Given the description of an element on the screen output the (x, y) to click on. 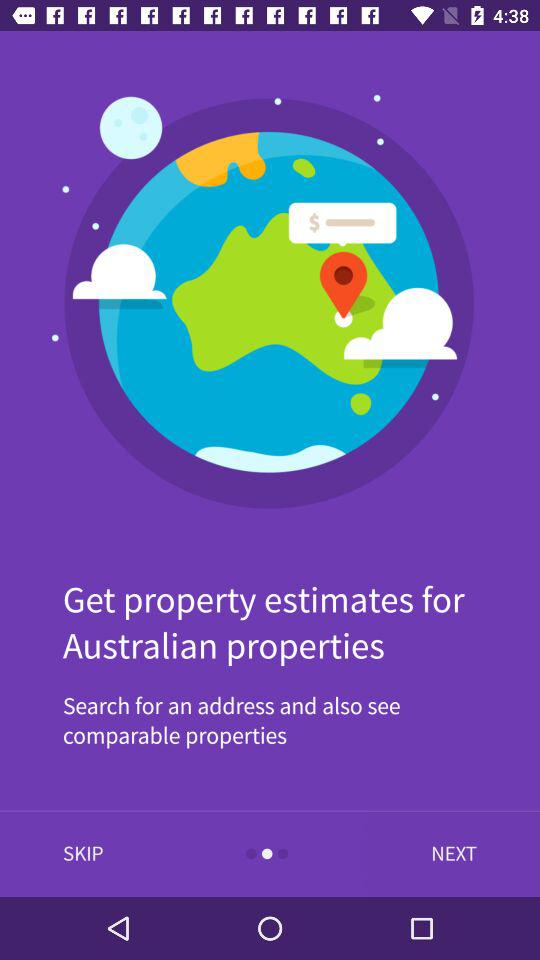
turn off the skip item (83, 853)
